Given the description of an element on the screen output the (x, y) to click on. 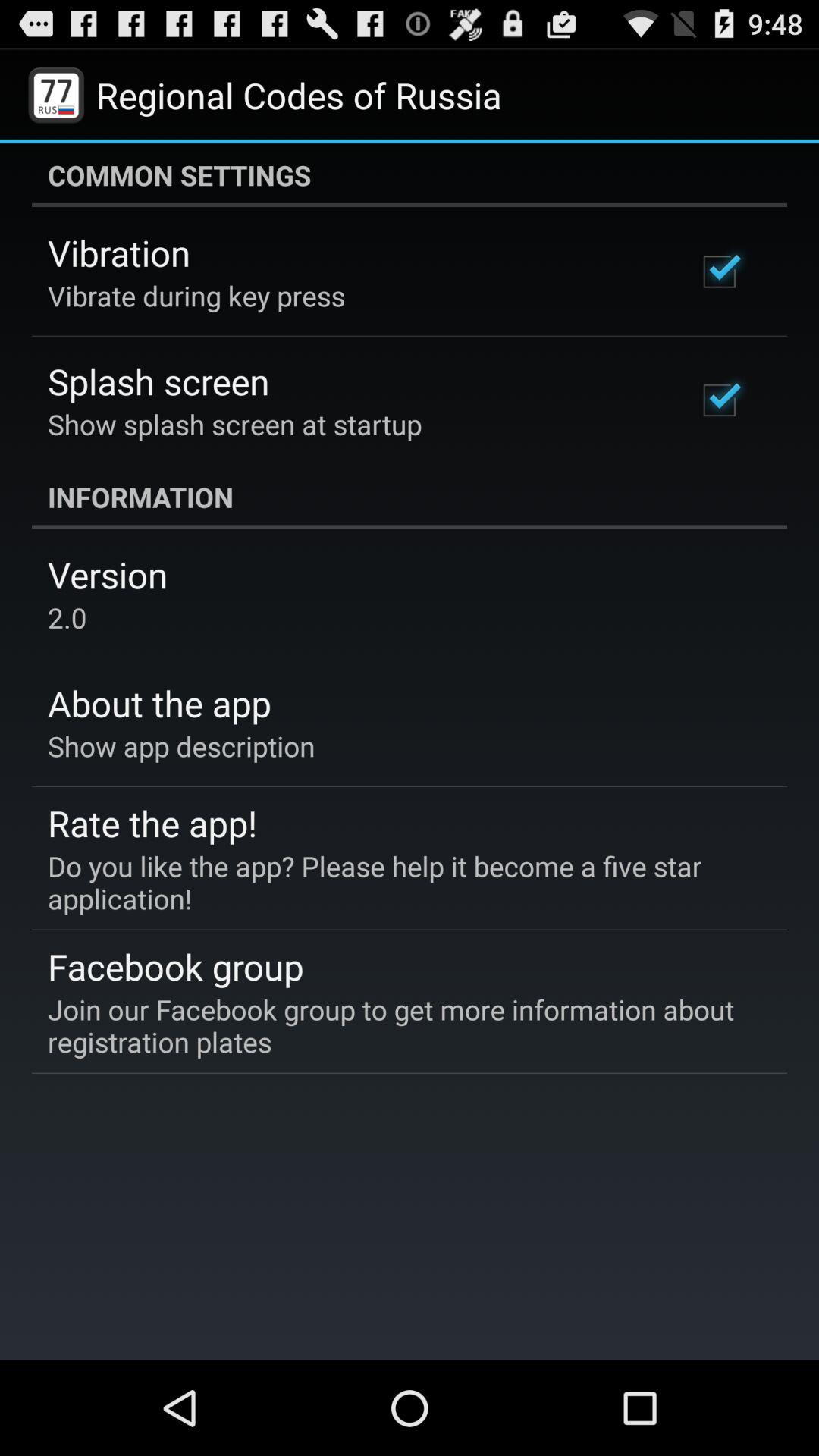
click app below the about the app (181, 745)
